Given the description of an element on the screen output the (x, y) to click on. 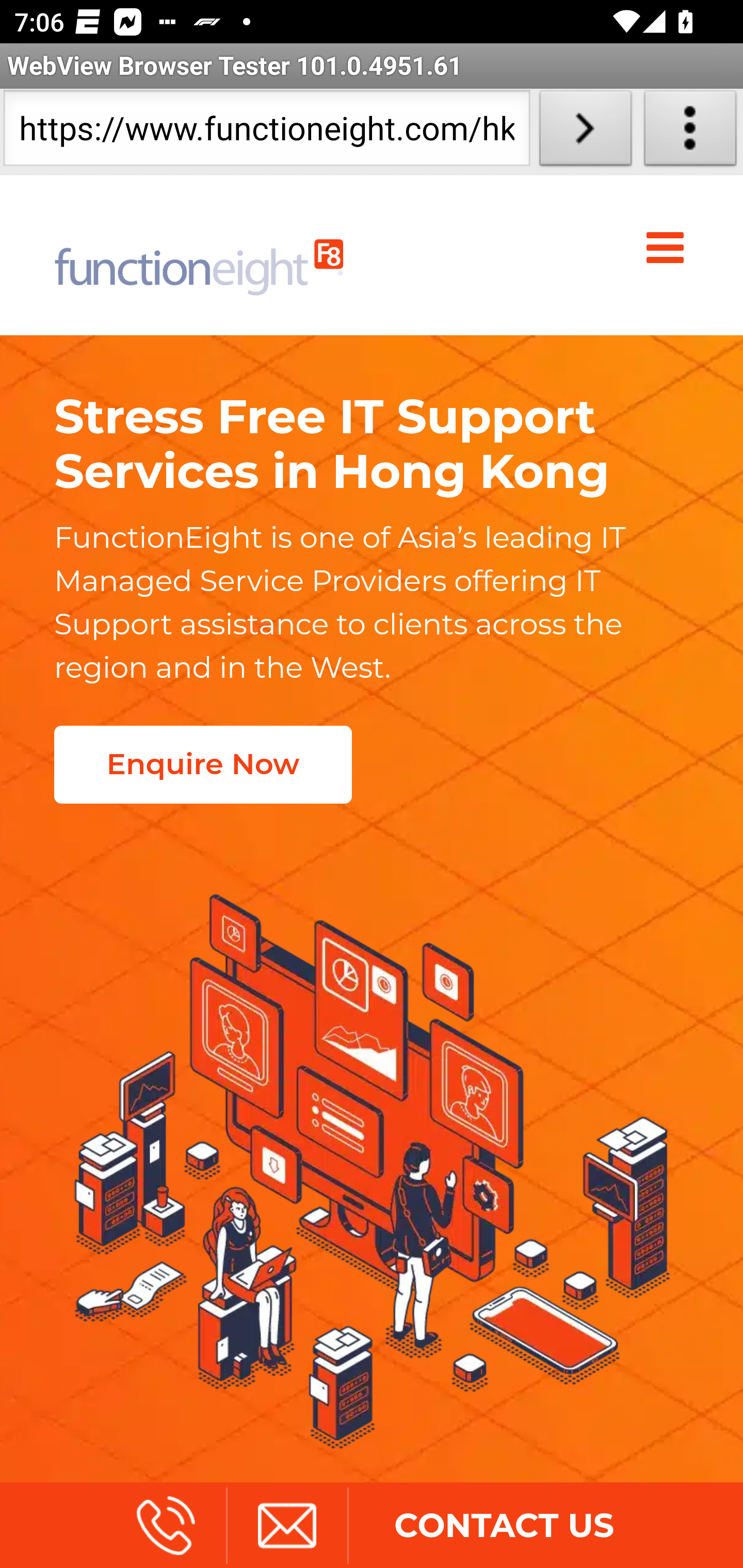
Load URL (585, 132)
About WebView (690, 132)
FunctionEight Hong Kong Logo (199, 254)
Toggle mobile menu  (668, 248)
Enquire Now (202, 764)
email (286, 1524)
CONTACT US (504, 1524)
